Given the description of an element on the screen output the (x, y) to click on. 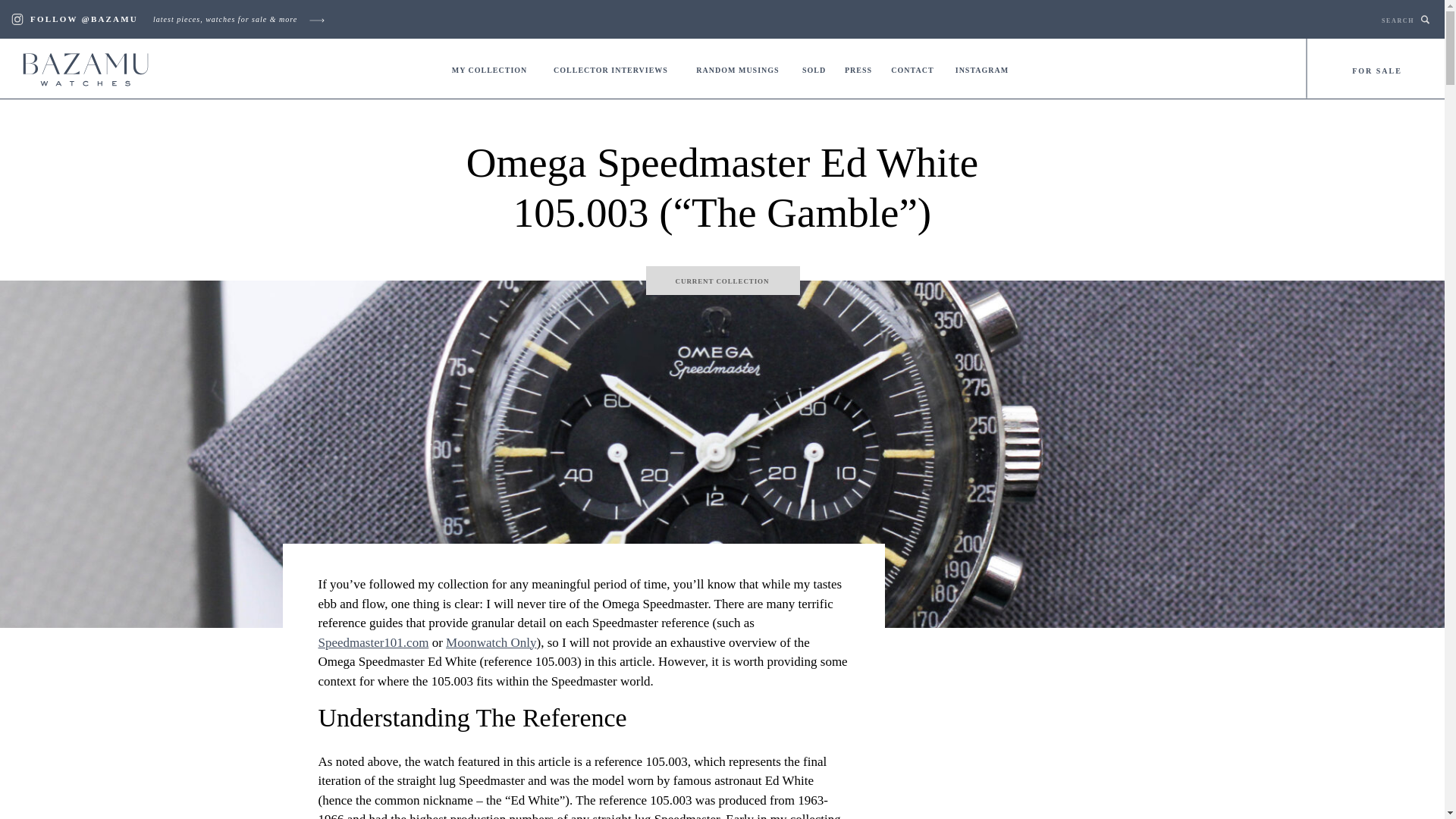
COLLECTOR INTERVIEWS (611, 69)
INSTAGRAM (981, 69)
SOLD (814, 69)
RANDOM MUSINGS (737, 69)
PRESS (858, 69)
MY COLLECTION (430, 18)
Speedmaster101.com (373, 642)
CURRENT COLLECTION (722, 281)
FOR SALE (1376, 70)
CONTACT (912, 69)
MY COLLECTION (489, 69)
Moonwatch Only (490, 642)
